Given the description of an element on the screen output the (x, y) to click on. 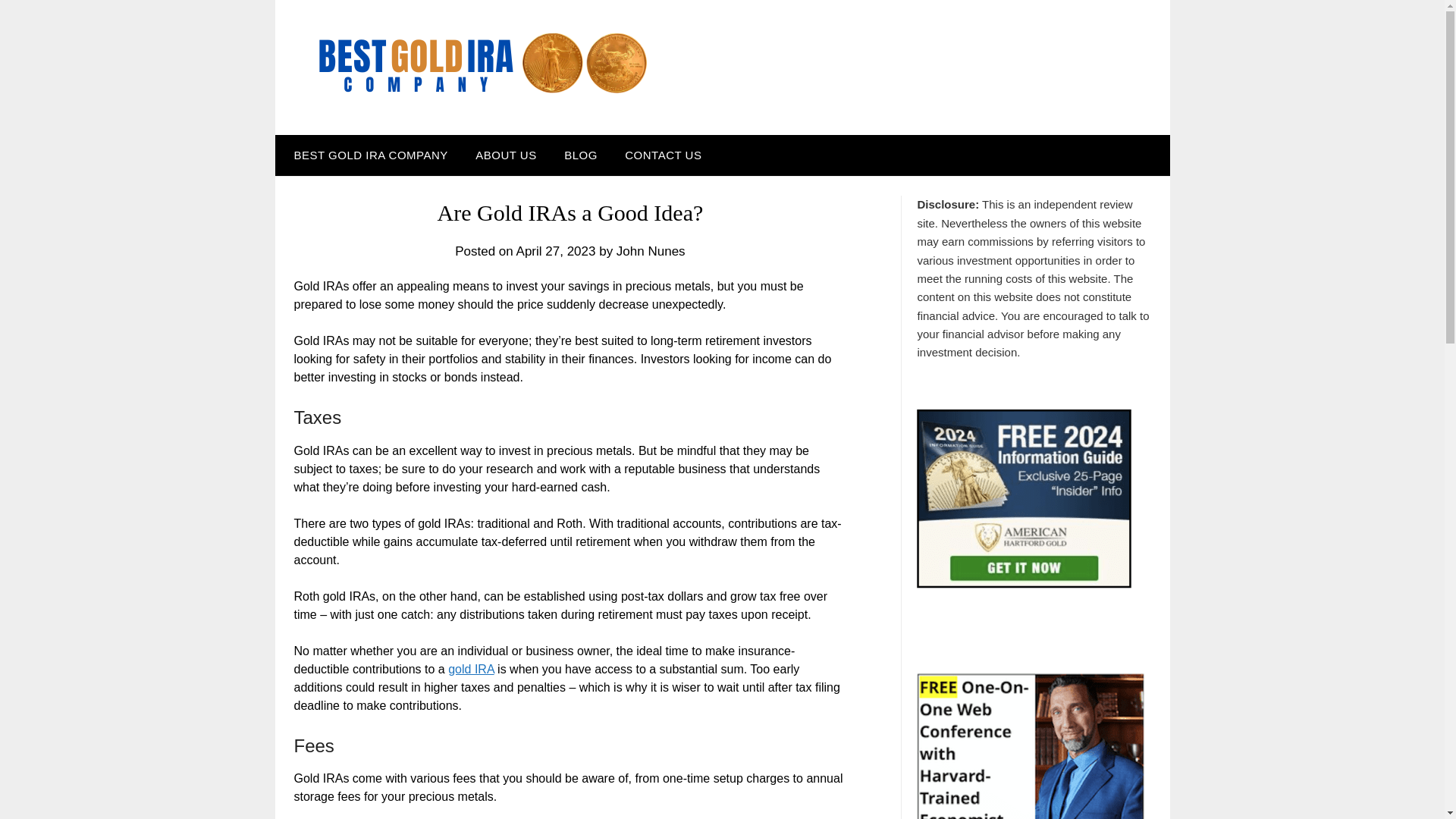
April 27, 2023 (555, 251)
ABOUT US (505, 155)
CONTACT US (662, 155)
BEST GOLD IRA COMPANY (367, 155)
gold IRA (470, 668)
BLOG (580, 155)
John Nunes (650, 251)
